Given the description of an element on the screen output the (x, y) to click on. 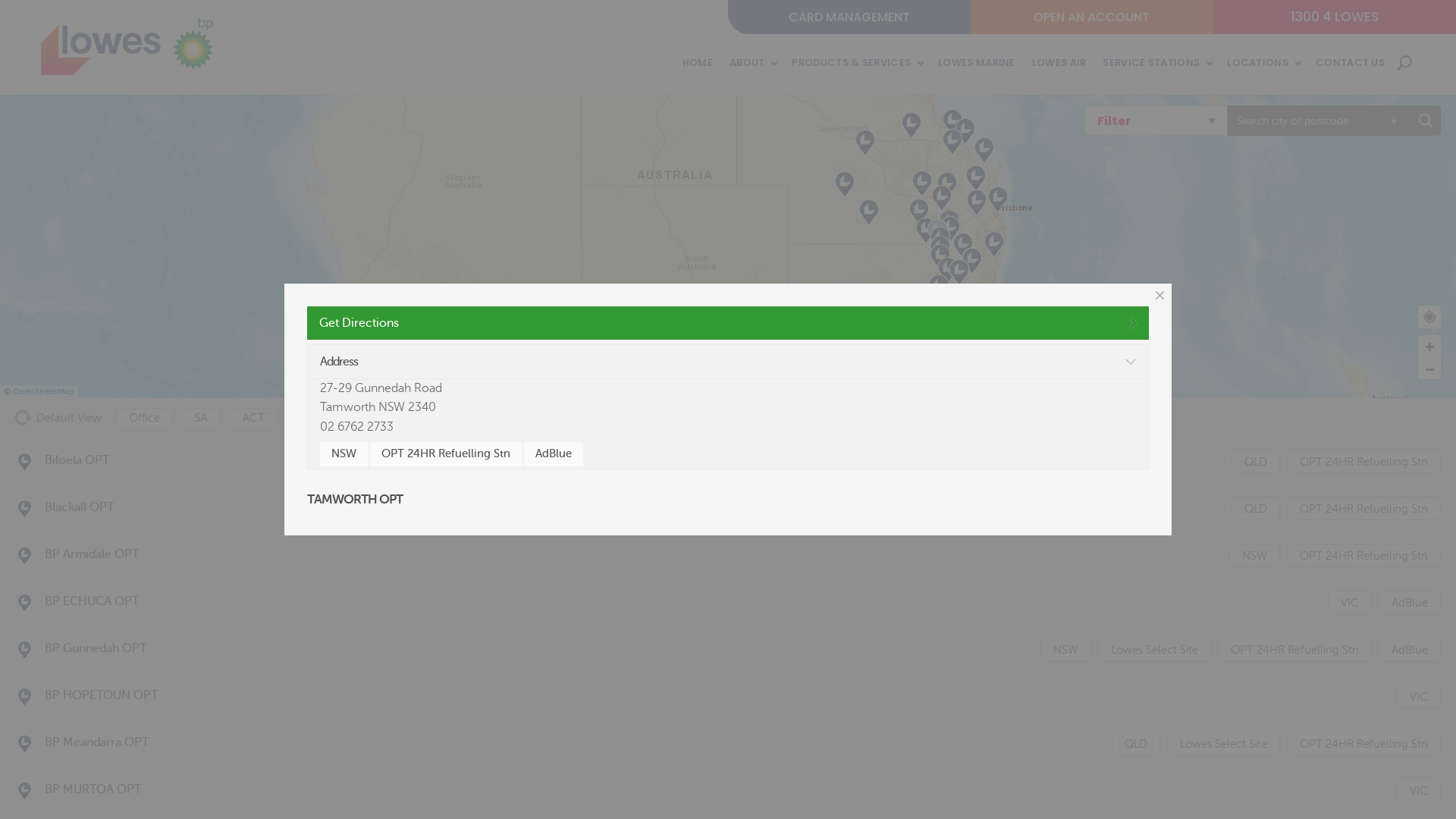
OPT 24HR Refuelling Stn Element type: text (774, 417)
QLD Element type: text (1135, 743)
VIC Element type: text (1349, 602)
QLD Element type: text (1255, 461)
CONTACT US Element type: text (1349, 62)
Lowes Select Site Element type: text (1223, 743)
LOCATIONS Element type: text (1262, 62)
VIC Element type: text (599, 417)
Default View Element type: text (57, 417)
AdBlue Element type: text (1409, 602)
Service Station Element type: text (910, 417)
AdBlue Element type: text (1000, 417)
AdBlue Element type: text (553, 454)
OPT 24HR Refuelling Stn Element type: text (1363, 508)
VIC Element type: text (1418, 790)
OPT 24HR Refuelling Stn Element type: text (1363, 461)
Get Directions Element type: text (727, 322)
PRODUCTS & SERVICES Element type: text (856, 62)
QLD Element type: text (490, 417)
ACT Element type: text (253, 417)
SA Element type: text (201, 417)
NSW Element type: text (1254, 555)
AdBlue Element type: text (1409, 649)
Depot Element type: text (659, 417)
Lubes Element type: text (1068, 417)
OpenStreetMap Element type: text (43, 391)
QLD Element type: text (1255, 508)
OPT 24HR Refuelling Stn Element type: text (445, 454)
LOWES MARINE Element type: text (976, 62)
NSW Element type: text (343, 454)
NSW Element type: text (381, 417)
SERVICE STATIONS Element type: text (1156, 62)
VIC Element type: text (1418, 696)
+ Element type: text (1393, 120)
HOME Element type: text (697, 62)
NT Element type: text (436, 417)
Lowes Select Site Element type: text (1154, 649)
OPT 24HR Refuelling Stn Element type: text (1363, 555)
TAS Element type: text (546, 417)
OPT 24HR Refuelling Stn Element type: text (1294, 649)
NSW Element type: text (1065, 649)
Office Element type: text (144, 417)
LOWES AIR Element type: text (1059, 62)
Marine Element type: text (316, 417)
OPT 24HR Refuelling Stn Element type: text (1363, 743)
ABOUT Element type: text (752, 62)
